Given the description of an element on the screen output the (x, y) to click on. 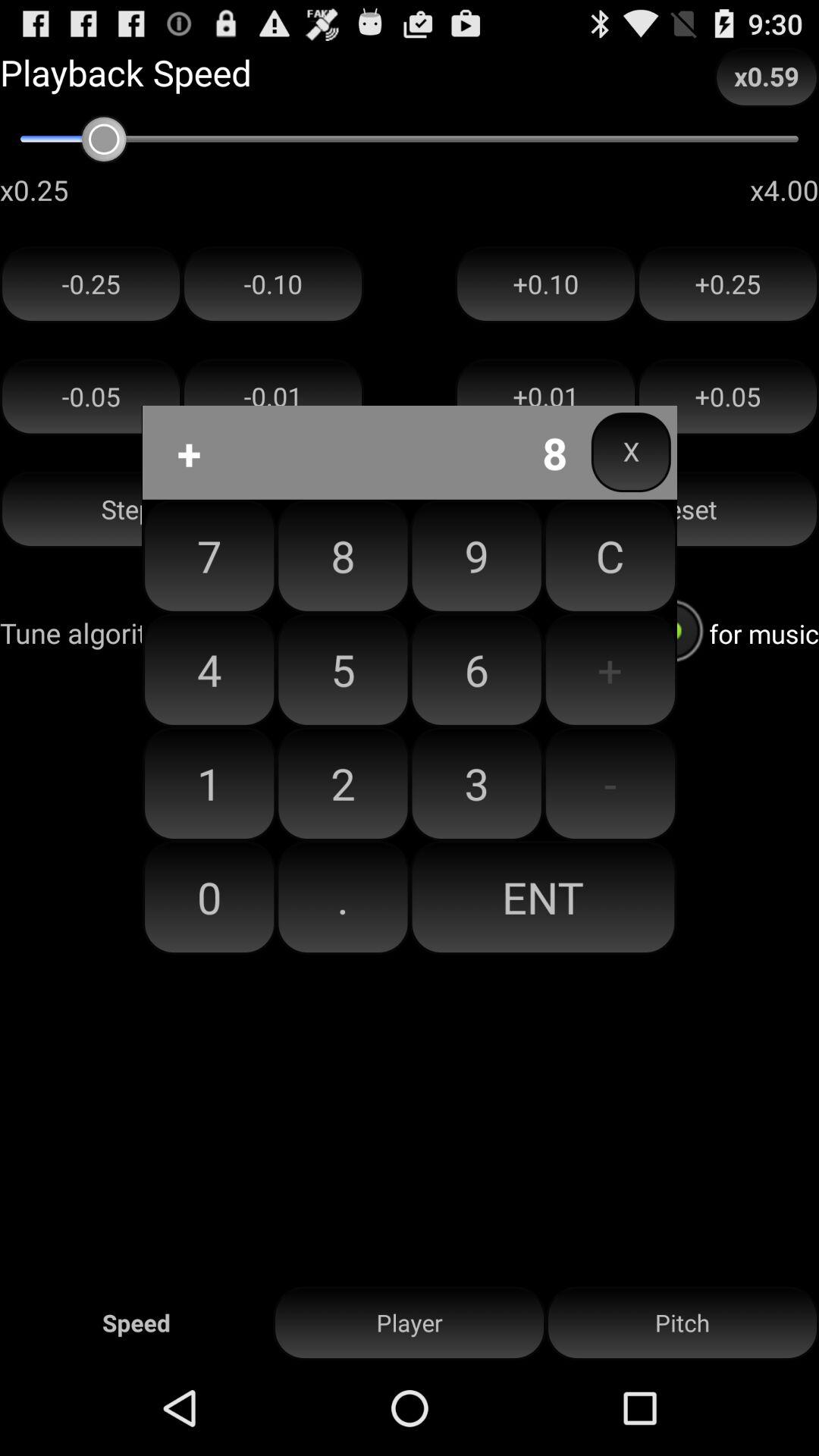
turn on the 6 button (476, 669)
